Given the description of an element on the screen output the (x, y) to click on. 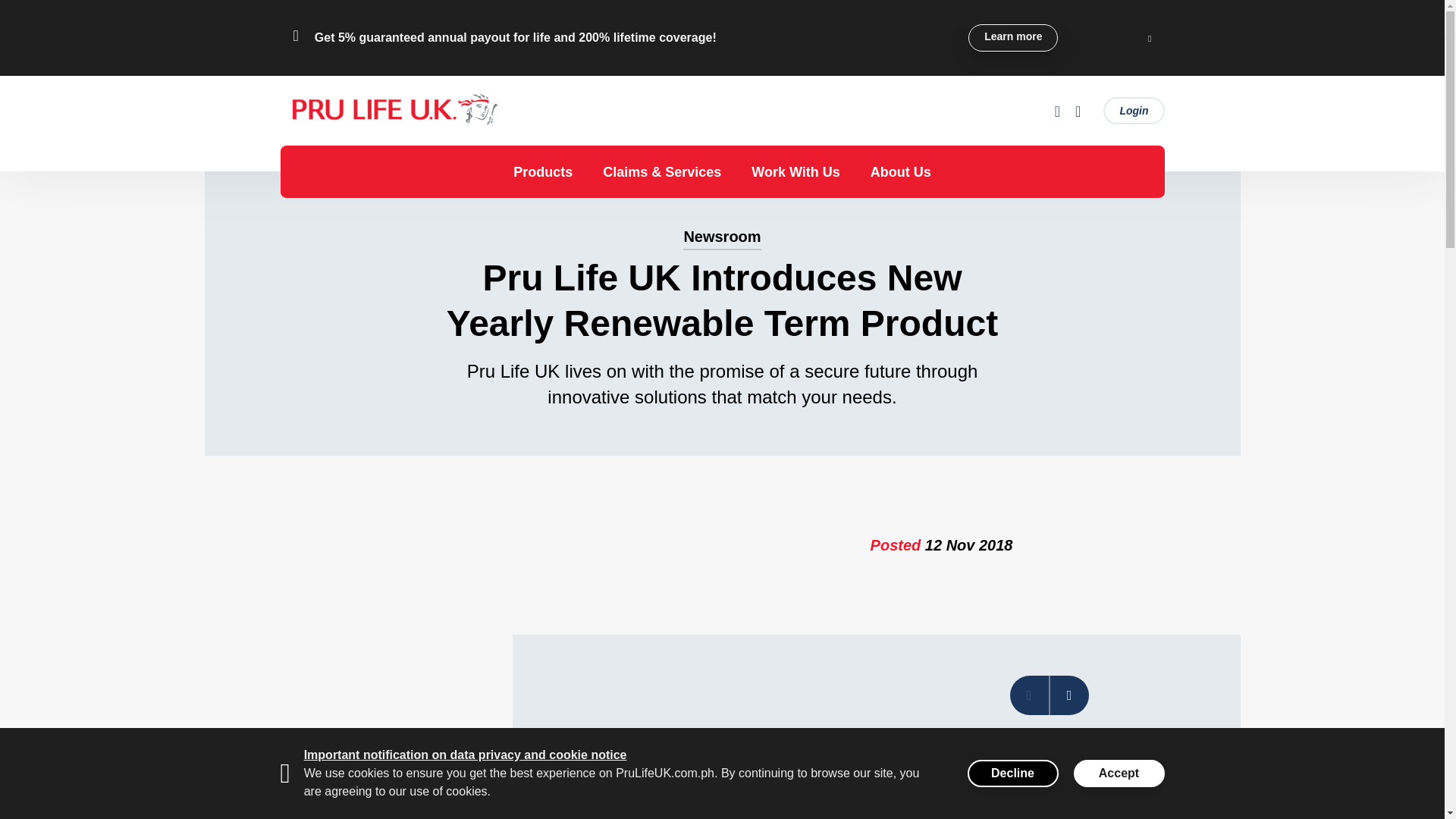
Products   (542, 171)
Products (542, 171)
Work With Us (795, 171)
Logo (394, 110)
Learn more (1013, 37)
Work With Us (795, 171)
About Us (901, 171)
Login (1133, 110)
Learn more (1013, 37)
About Us (901, 171)
